Given the description of an element on the screen output the (x, y) to click on. 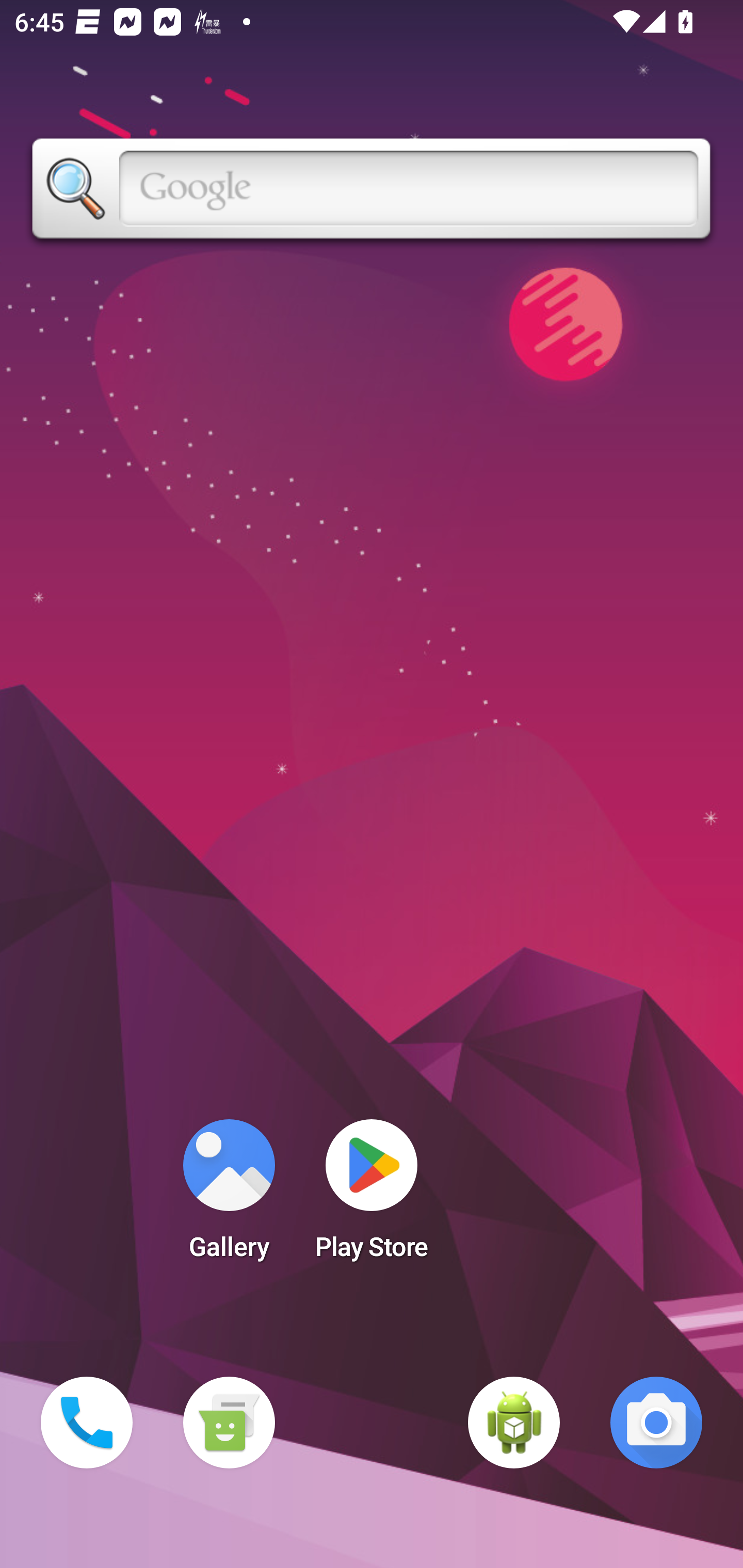
Gallery (228, 1195)
Play Store (371, 1195)
Phone (86, 1422)
Messaging (228, 1422)
WebView Browser Tester (513, 1422)
Camera (656, 1422)
